Given the description of an element on the screen output the (x, y) to click on. 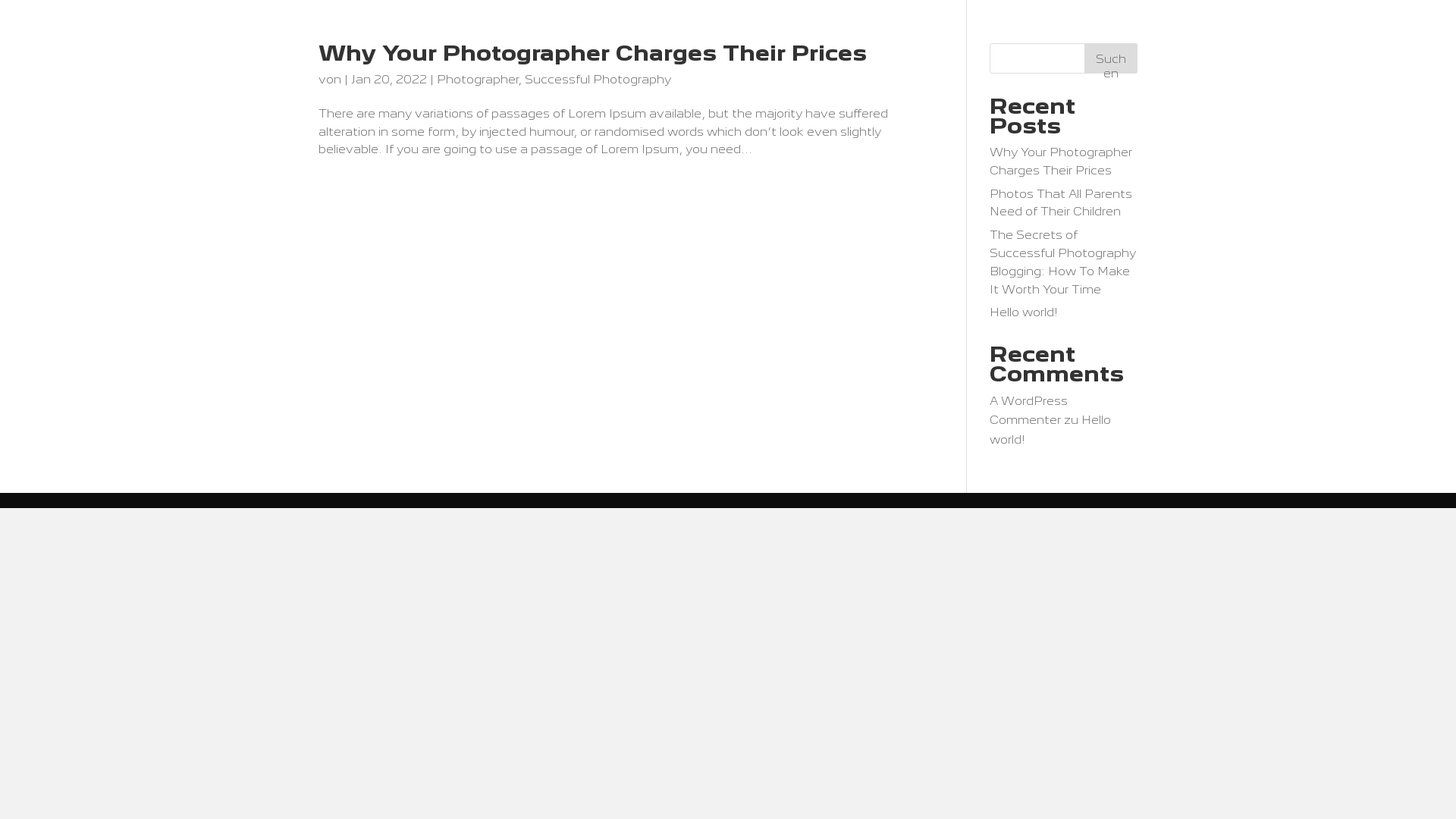
Hello world! Element type: text (1023, 311)
Suchen Element type: text (1110, 58)
Successful Photography Element type: text (597, 79)
Why Your Photographer Charges Their Prices Element type: text (592, 52)
A WordPress Commenter Element type: text (1028, 409)
Why Your Photographer Charges Their Prices Element type: text (1060, 160)
Hello world! Element type: text (1049, 428)
Photos That All Parents Need of Their Children Element type: text (1060, 202)
Photographer Element type: text (476, 79)
